Given the description of an element on the screen output the (x, y) to click on. 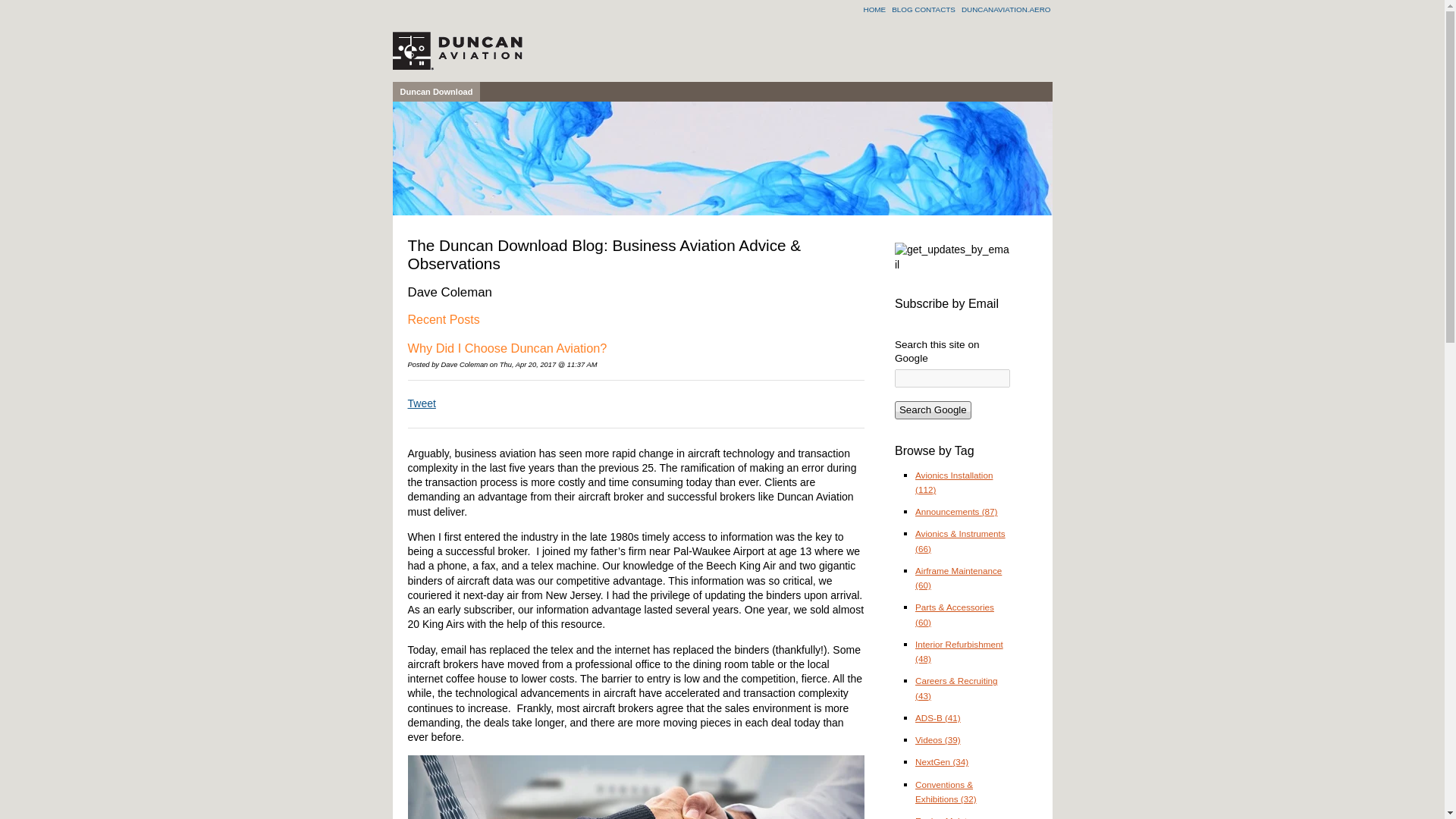
Duncan Aviation (457, 49)
HOME (877, 8)
DUNCANAVIATION.AERO (1005, 8)
Duncan Download (436, 91)
BLOG CONTACTS (925, 8)
Dave Coleman (464, 364)
Why Did I Choose Duncan Aviation? (507, 347)
Search Google (933, 410)
Tweet (421, 403)
banner1.jpg (722, 158)
